Given the description of an element on the screen output the (x, y) to click on. 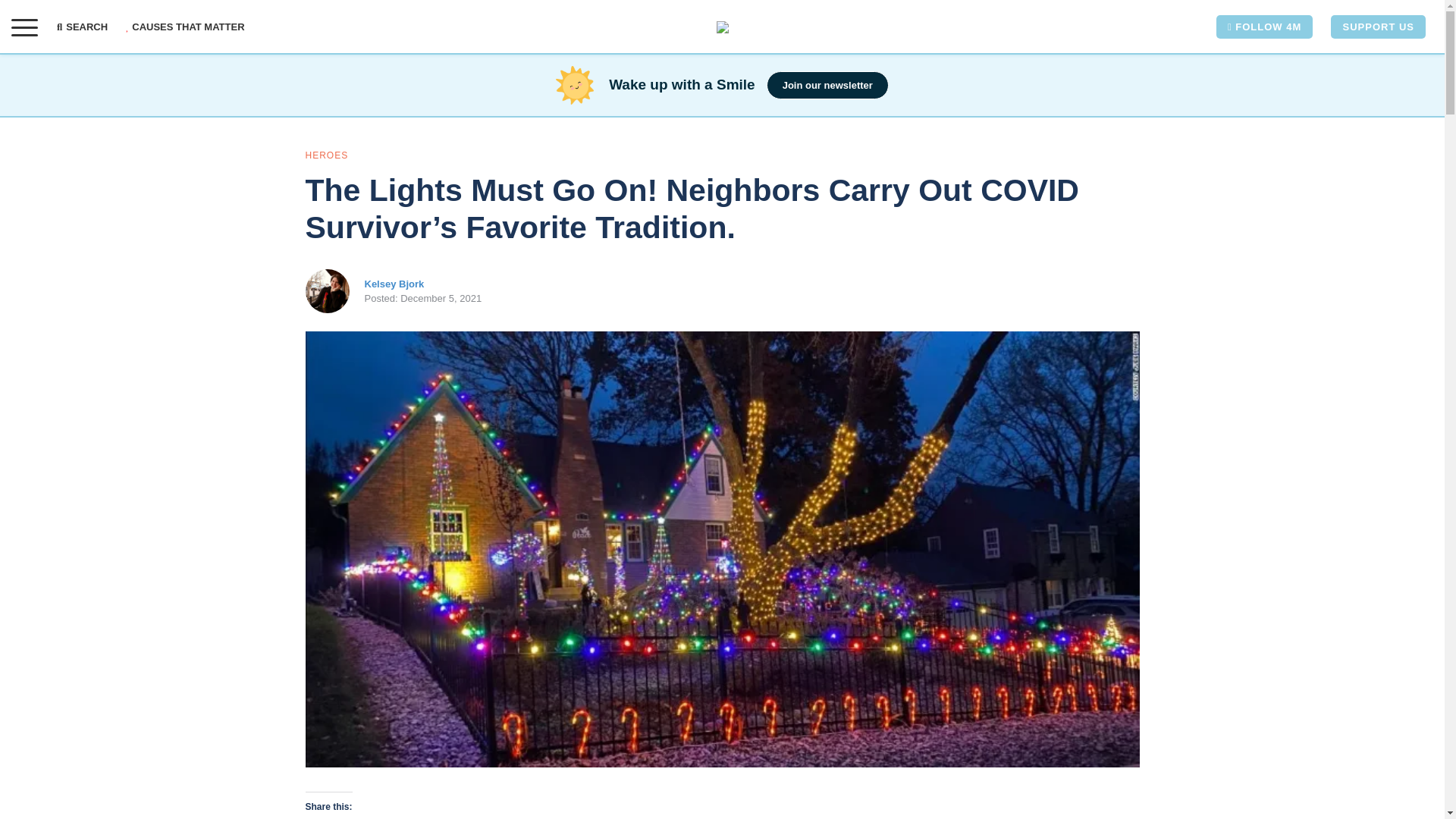
CAUSES THAT MATTER (184, 26)
Kelsey Bjork (393, 283)
Join our newsletter (827, 85)
SUPPORT US (1377, 26)
HEROES (325, 154)
FOLLOW 4M (1264, 26)
SEARCH (86, 26)
